Given the description of an element on the screen output the (x, y) to click on. 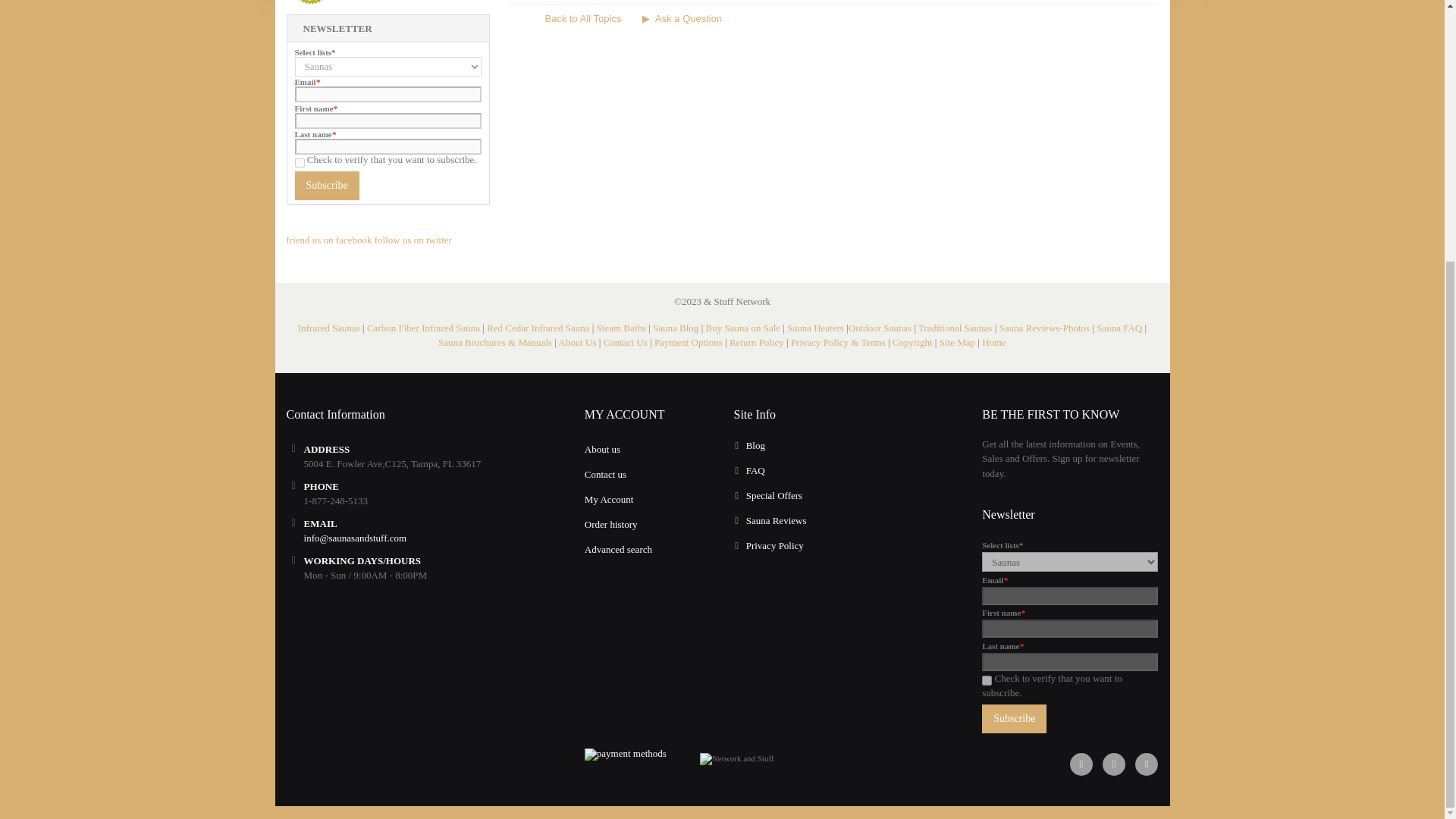
on (986, 680)
Carbon Fiber Infrared Sauna (423, 327)
Infrared Saunas (328, 327)
on (299, 162)
